Given the description of an element on the screen output the (x, y) to click on. 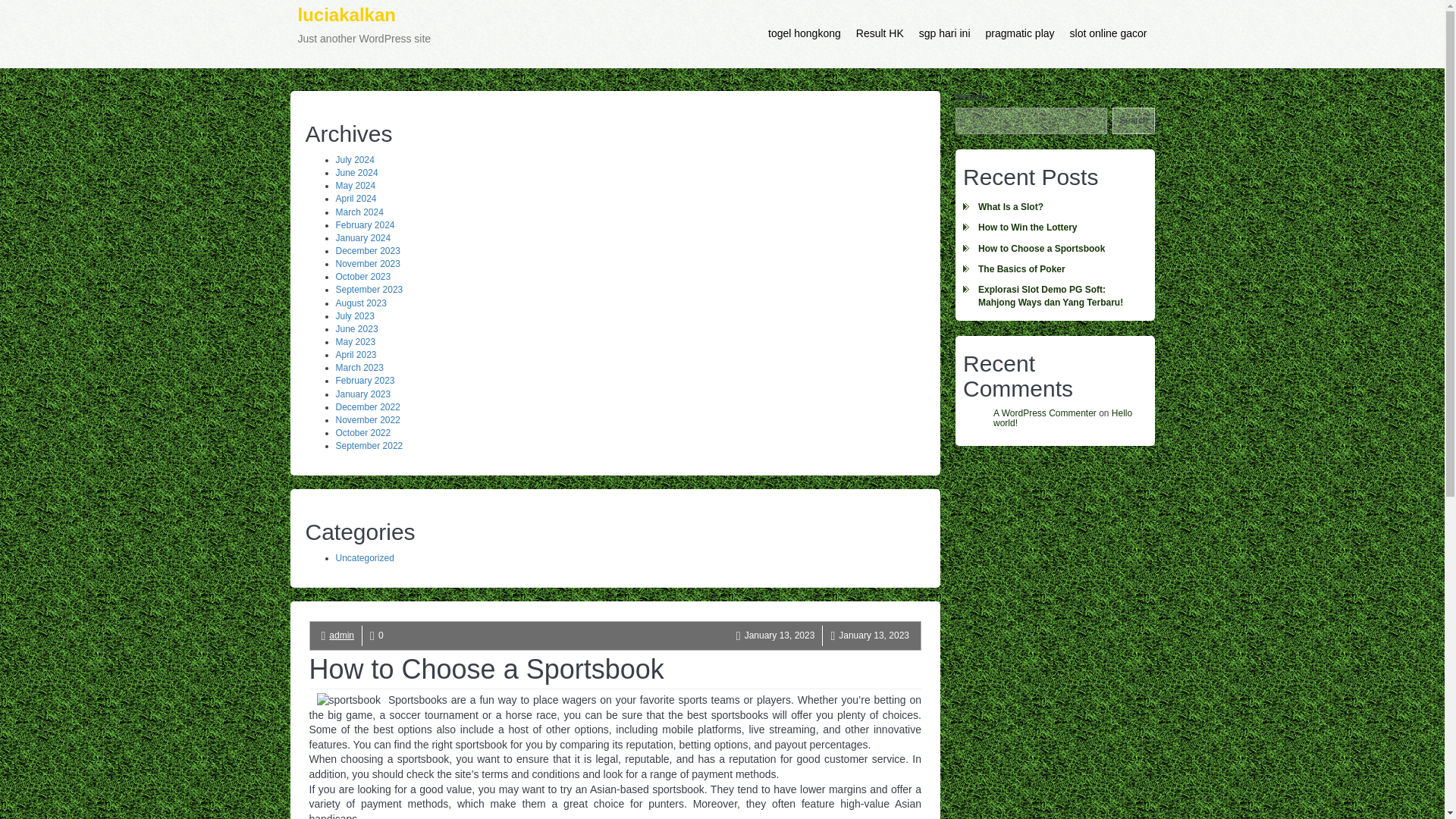
sgp hari ini (944, 33)
July 2023 (354, 316)
What Is a Slot? (1054, 207)
June 2024 (355, 172)
slot online gacor (1108, 33)
January 2024 (362, 237)
March 2024 (358, 212)
July 2024 (354, 159)
admin (341, 634)
February 2023 (364, 380)
The Basics of Poker (1054, 269)
togel hongkong (804, 33)
How to Win the Lottery (1054, 227)
Search (363, 33)
